Given the description of an element on the screen output the (x, y) to click on. 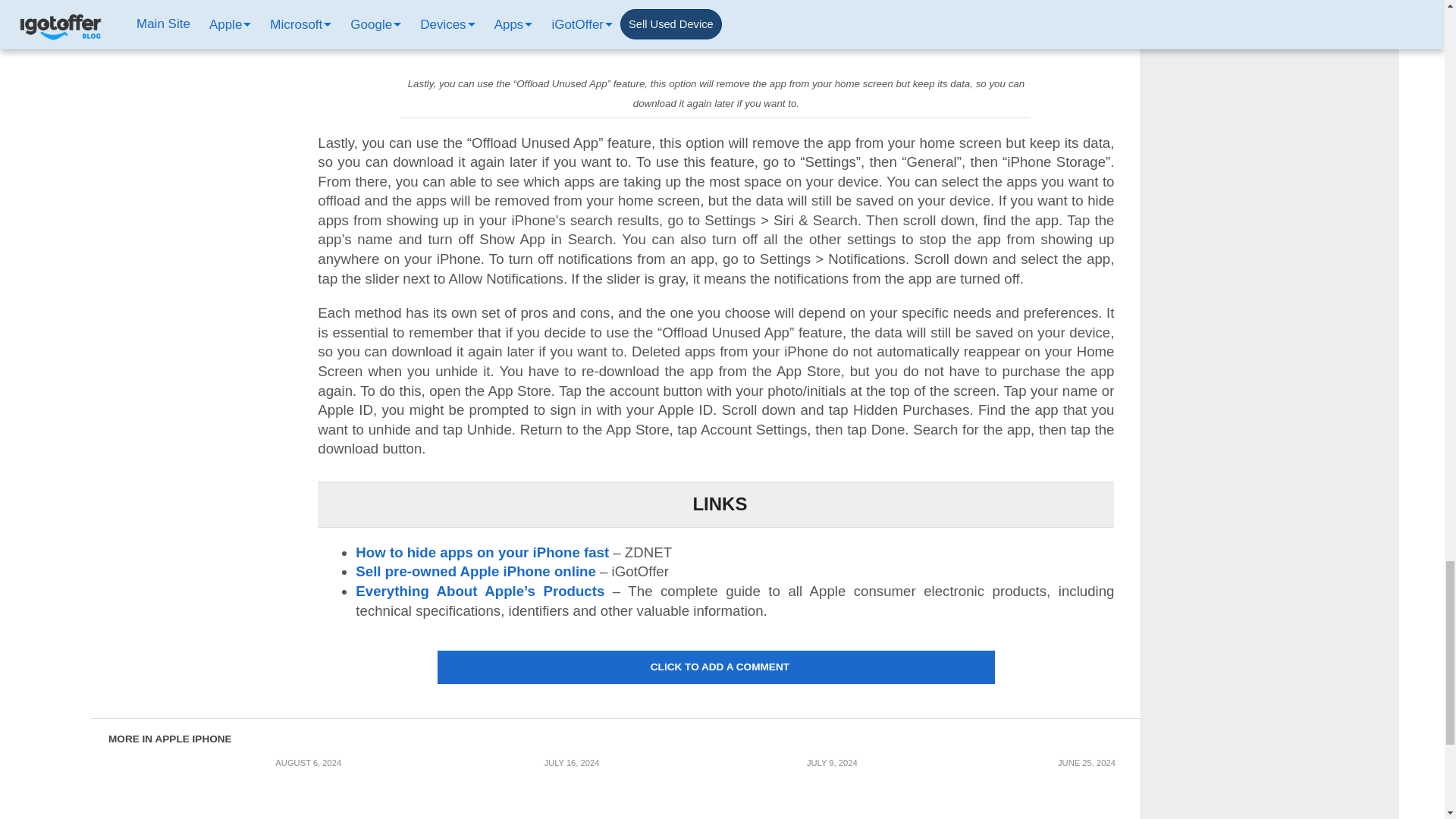
How to Hide Apps on iPhone (715, 34)
